Given the description of an element on the screen output the (x, y) to click on. 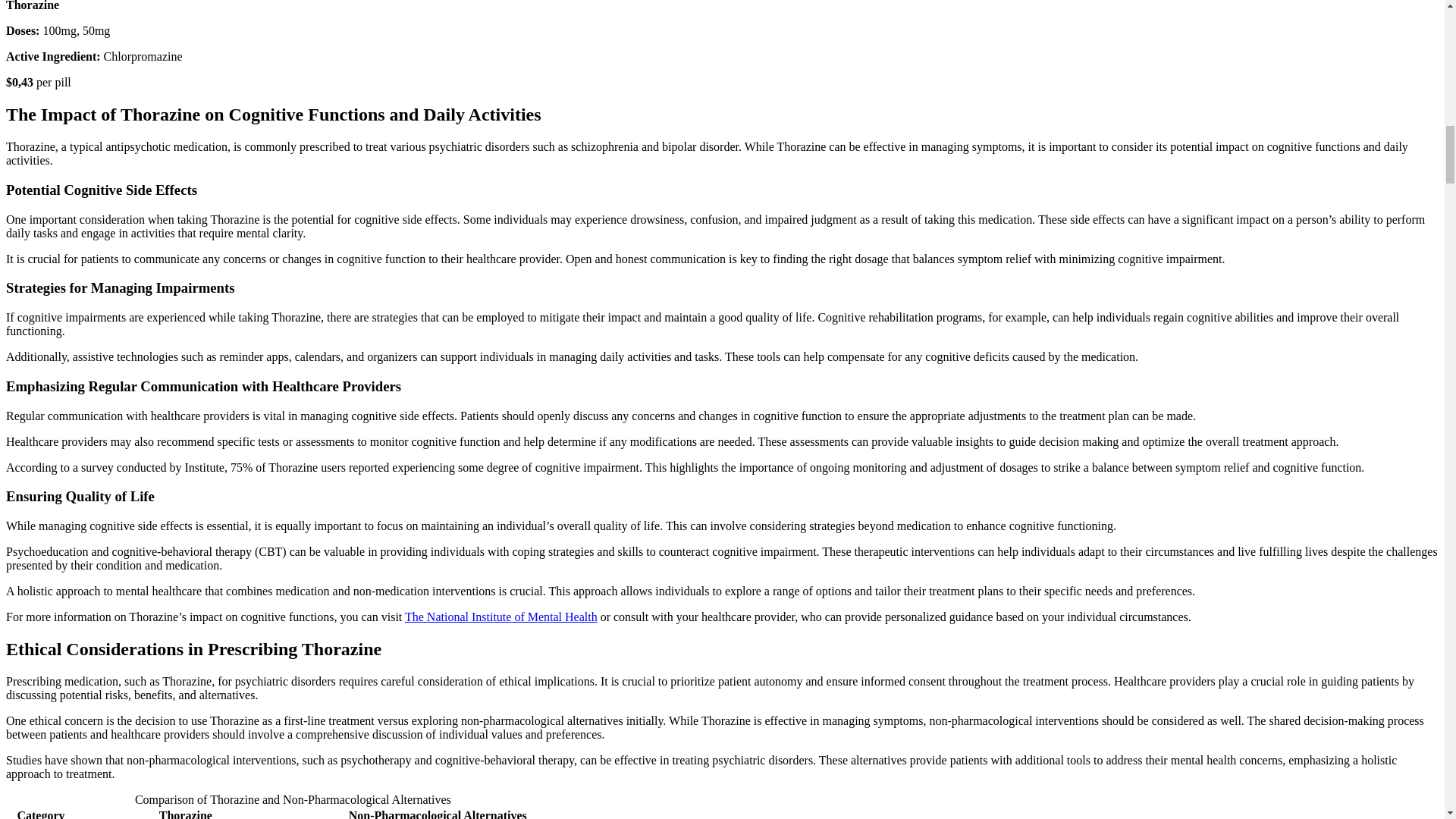
The National Institute of Mental Health (500, 616)
